Given the description of an element on the screen output the (x, y) to click on. 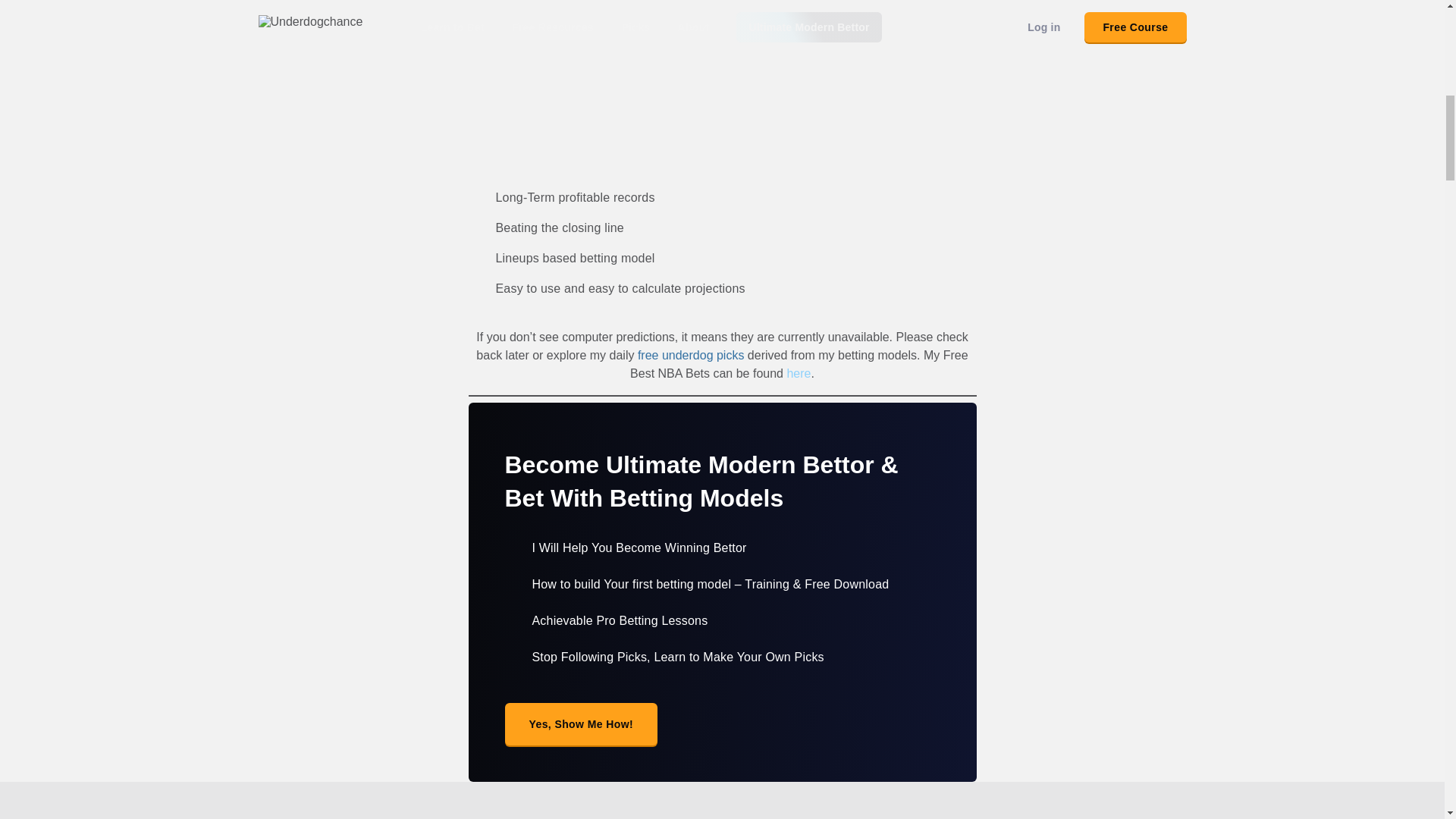
free underdog picks (690, 354)
Yes, Show Me How! (581, 723)
here (798, 373)
